Given the description of an element on the screen output the (x, y) to click on. 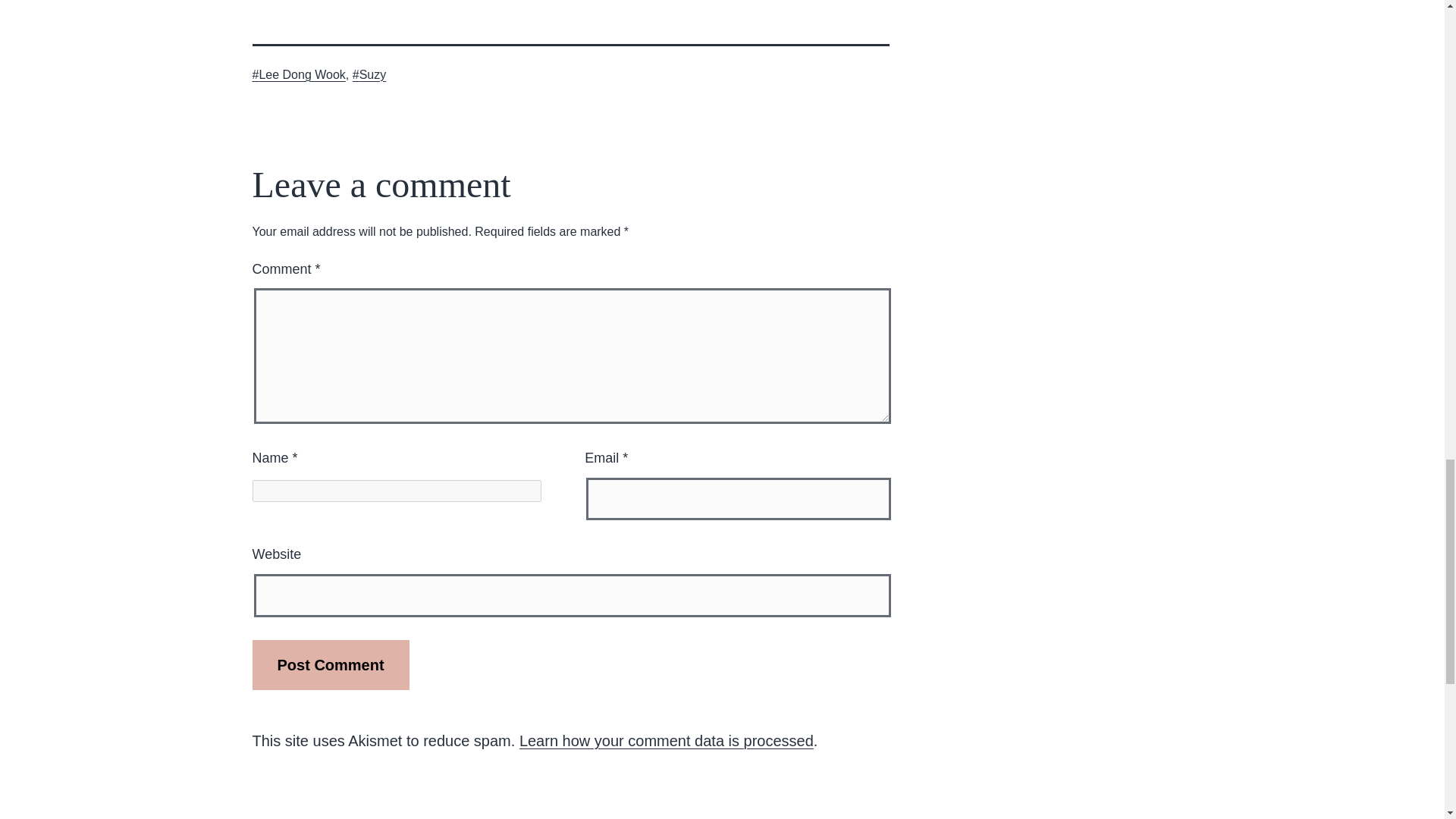
Learn how your comment data is processed (666, 740)
Post Comment (330, 664)
Suzy (368, 74)
Post Comment (330, 664)
Lee Dong Wook (298, 74)
